Given the description of an element on the screen output the (x, y) to click on. 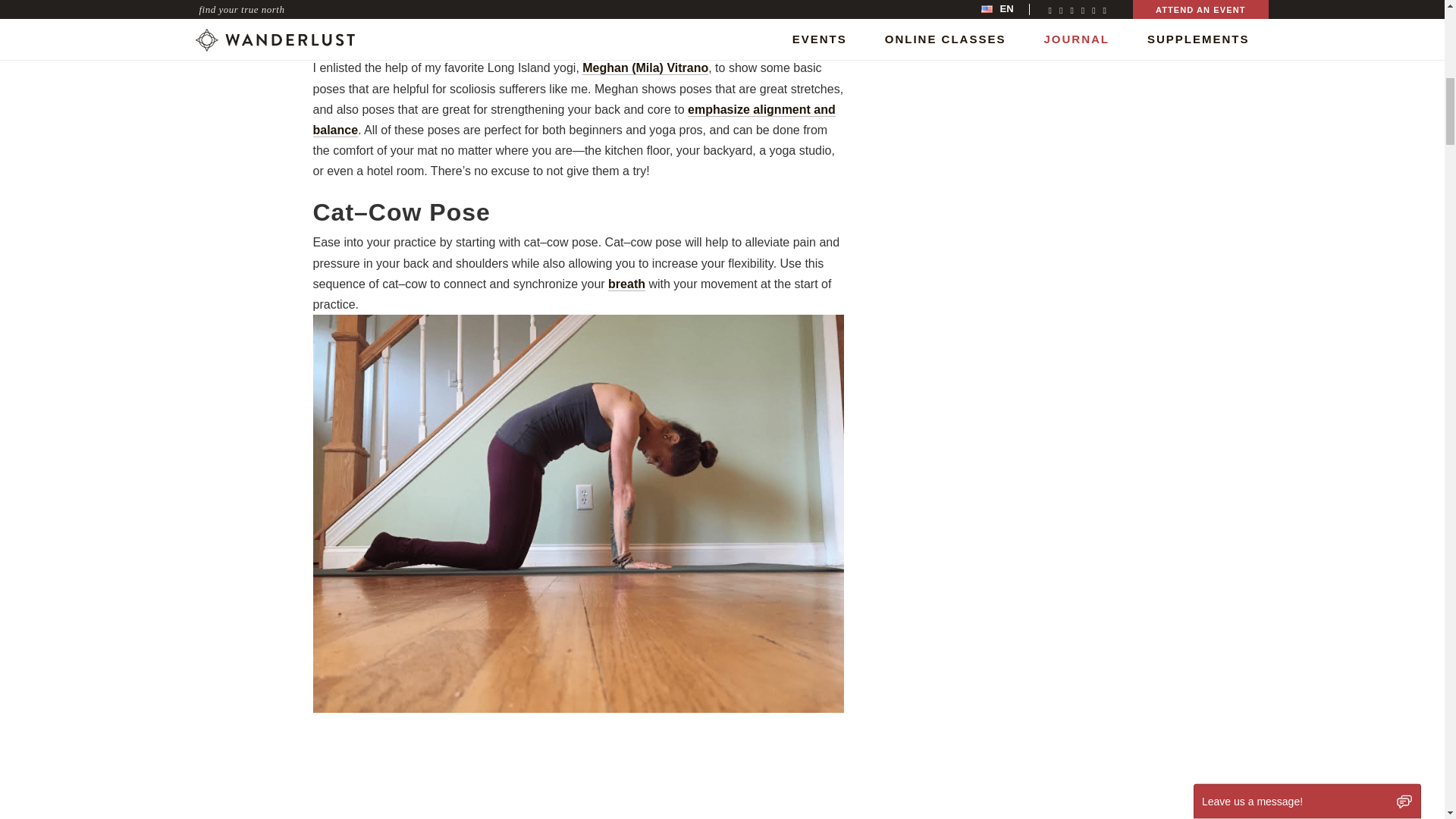
Next (1220, 316)
FOLLOW US (1010, 98)
